Given the description of an element on the screen output the (x, y) to click on. 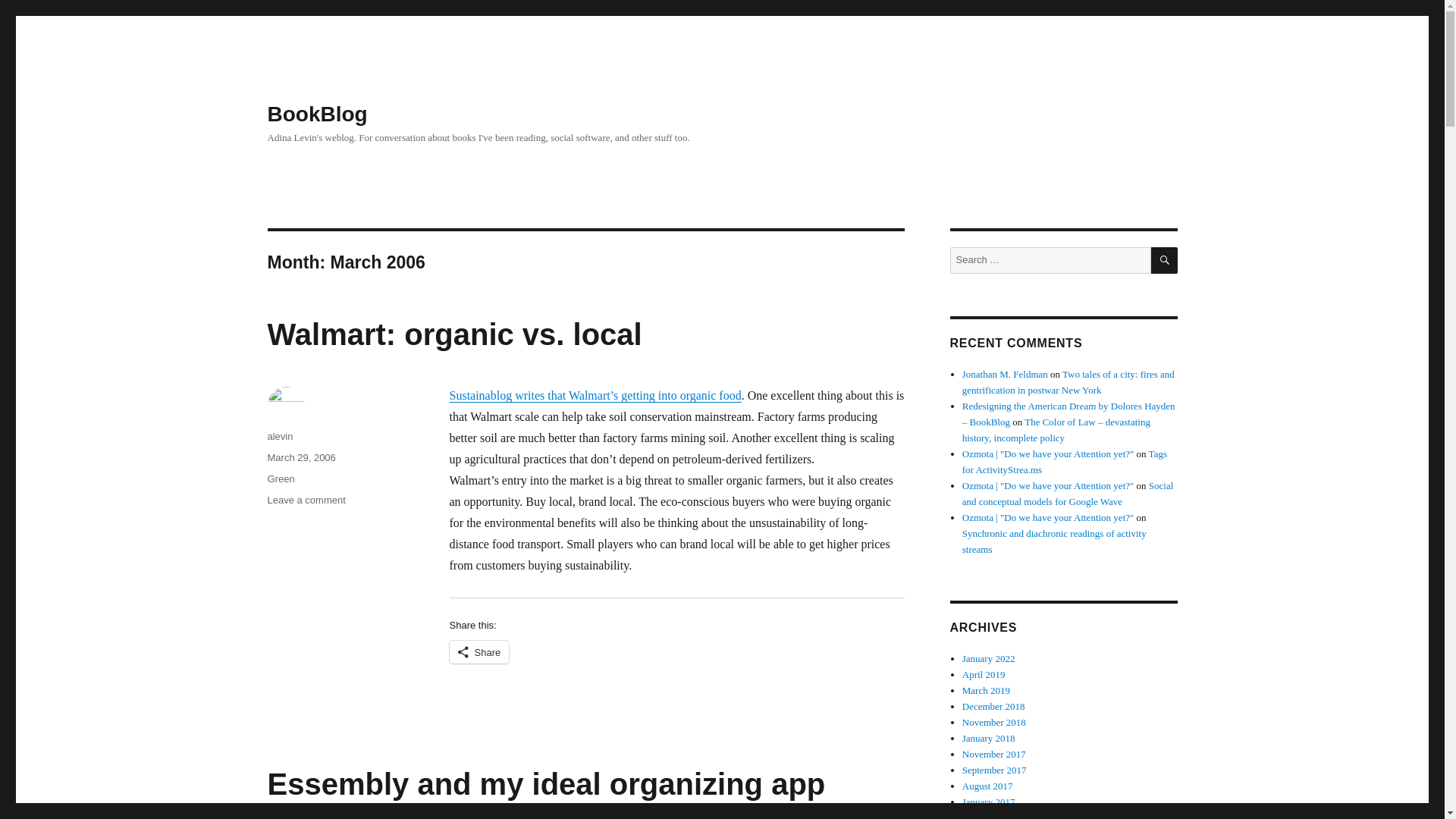
March 29, 2006 (300, 457)
Walmart: organic vs. local (454, 334)
BookBlog (316, 114)
alevin (279, 436)
Share (478, 651)
Essembly and my ideal organizing app (305, 500)
Green (545, 783)
